Given the description of an element on the screen output the (x, y) to click on. 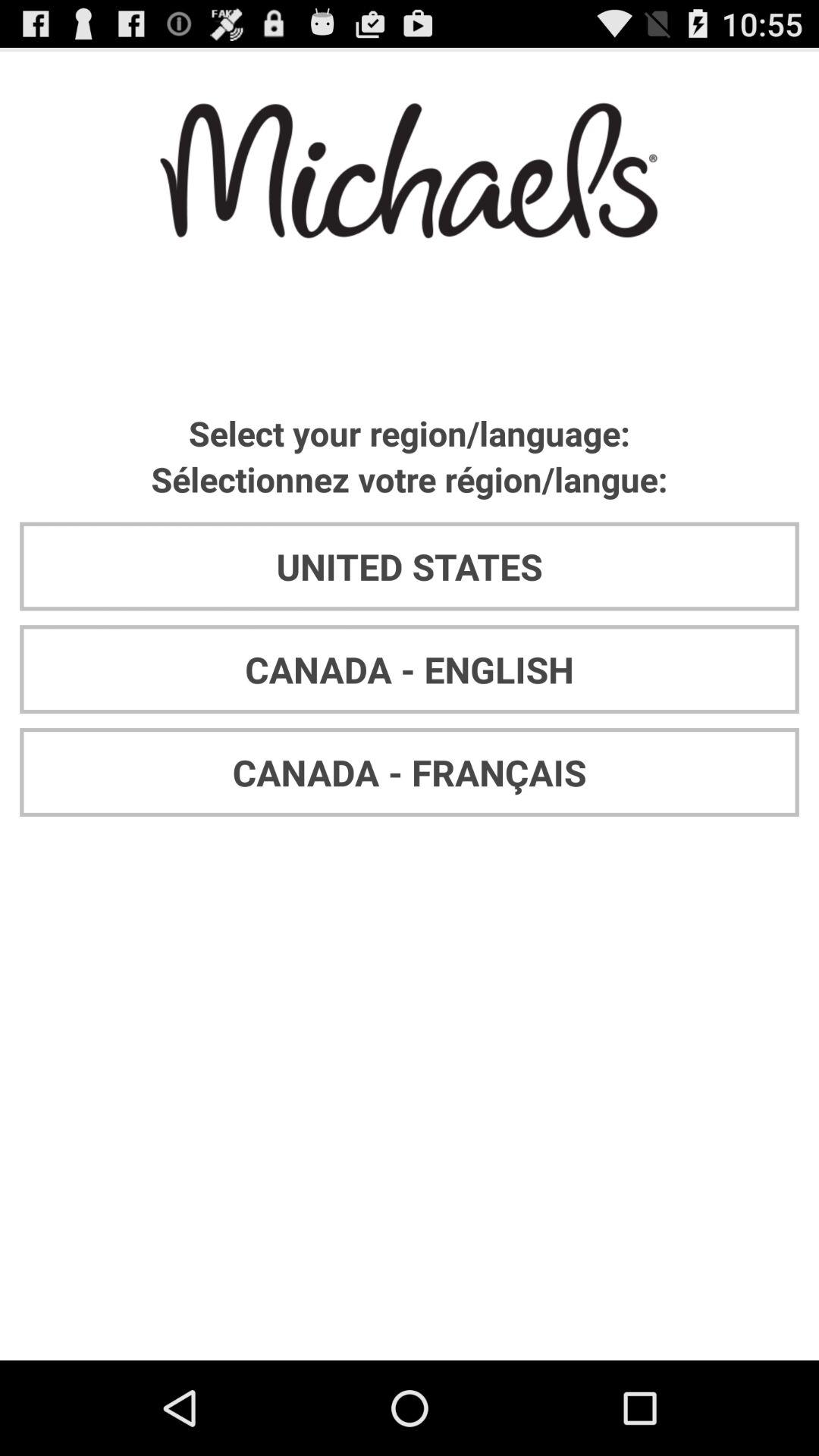
jump until the united states (409, 566)
